Given the description of an element on the screen output the (x, y) to click on. 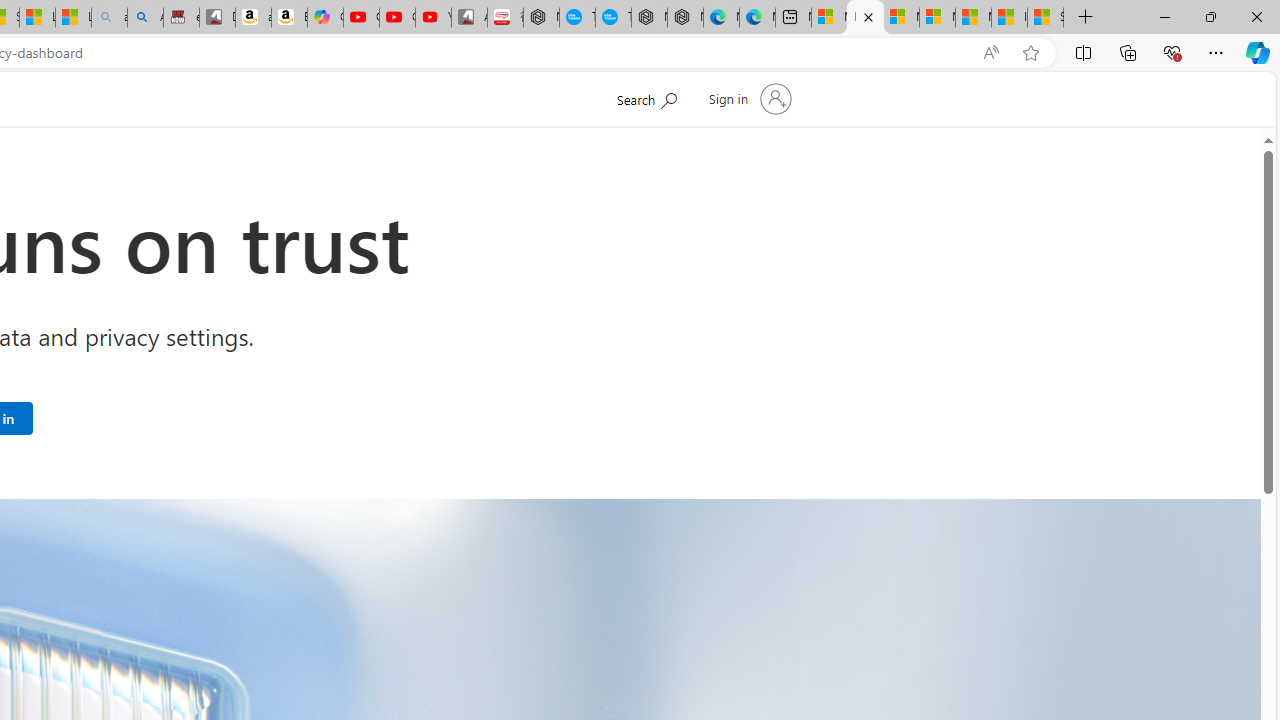
Microsoft account | Microsoft Account Privacy Settings (865, 17)
Amazon Echo Dot PNG - Search Images (145, 17)
YouTube Kids - An App Created for Kids to Explore Content (433, 17)
Sign in to your account (748, 98)
amazon - Search - Sleeping (109, 17)
Microsoft account | Privacy (937, 17)
All Cubot phones (469, 17)
